Given the description of an element on the screen output the (x, y) to click on. 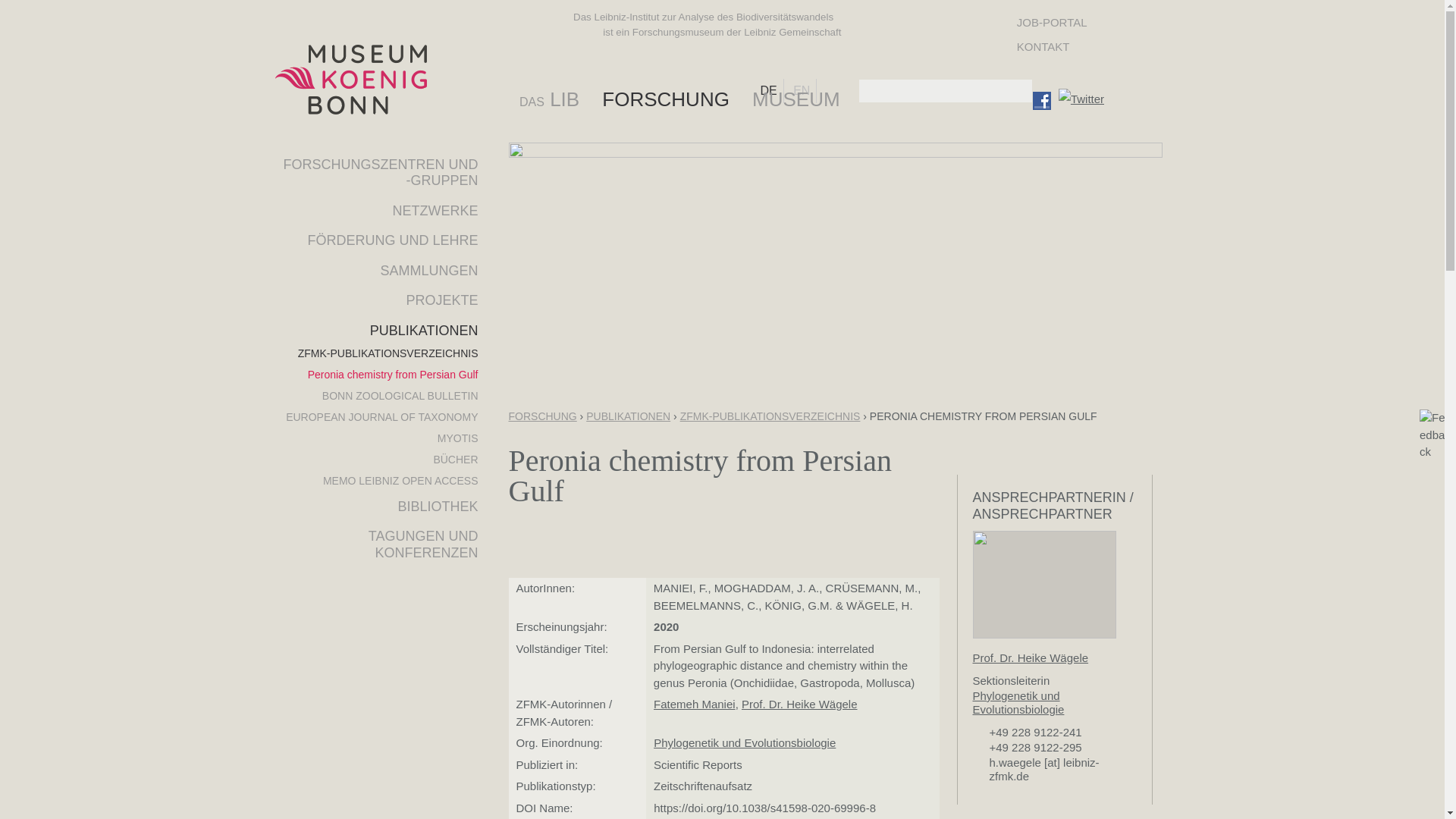
Suche (1021, 90)
Geben Sie die Begriffe ein, nach denen Sie suchen. (945, 90)
KONTAKT (1051, 47)
JOB-PORTAL (1051, 22)
Link zur Leibnizgemeinschaft (896, 29)
Suche (1021, 90)
DAS LIB (558, 98)
English (804, 90)
EN (804, 90)
Deutsch (771, 90)
